Given the description of an element on the screen output the (x, y) to click on. 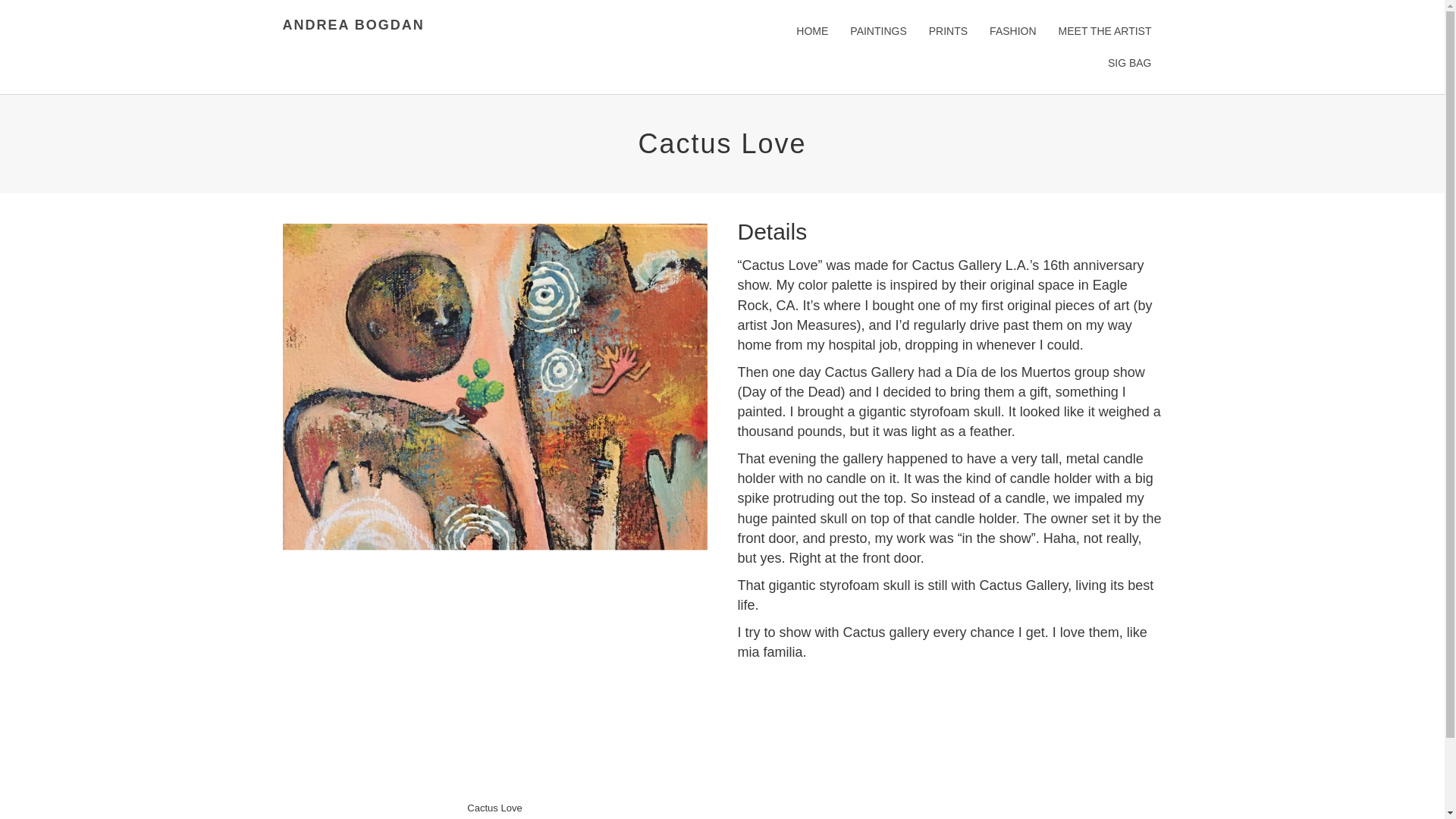
ANDREA BOGDAN (352, 24)
PRINTS (948, 30)
FASHION (1012, 30)
HOME (812, 30)
MEET THE ARTIST (1104, 30)
SIG BAG (1129, 62)
PAINTINGS (878, 30)
